Given the description of an element on the screen output the (x, y) to click on. 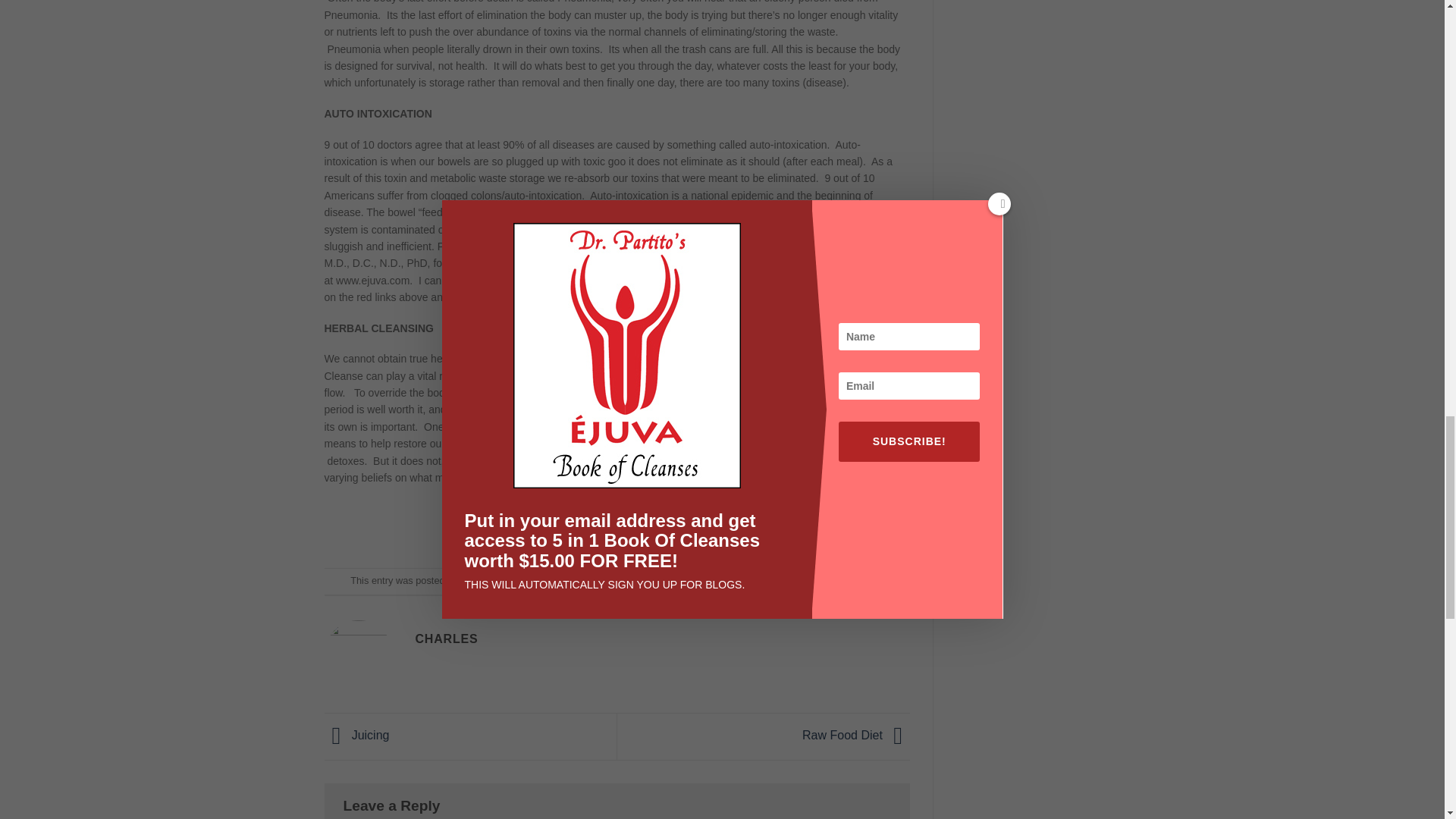
Herbal Cleansing (698, 580)
Share on Facebook (562, 527)
Storing Toxins (817, 580)
Juicing (357, 735)
Auto Intoxication (590, 580)
Share on LinkedIn (671, 527)
Ejuva (643, 580)
Email to a Friend (617, 527)
Dr. Partito (479, 580)
Raw food (761, 580)
Raw Food Diet (856, 735)
Share on Twitter (590, 527)
Toxins (866, 580)
Pin on Pinterest (644, 527)
